Given the description of an element on the screen output the (x, y) to click on. 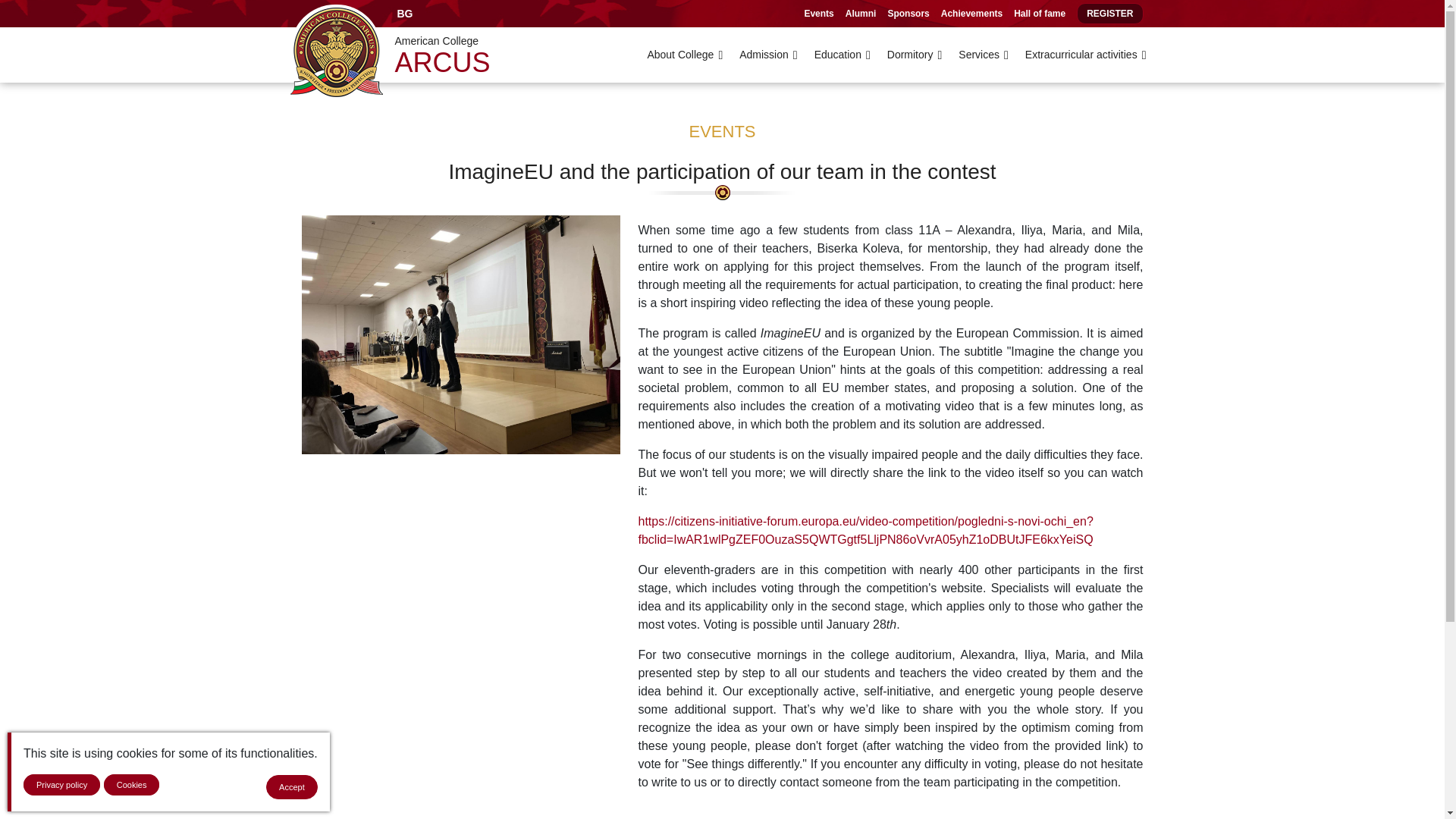
About College (684, 54)
BG (404, 13)
Admission (767, 54)
Events (817, 13)
Education (841, 54)
About College (684, 54)
Hall of fame (1039, 13)
Sponsors (907, 13)
Alumni (860, 13)
Achievements (971, 13)
